Given the description of an element on the screen output the (x, y) to click on. 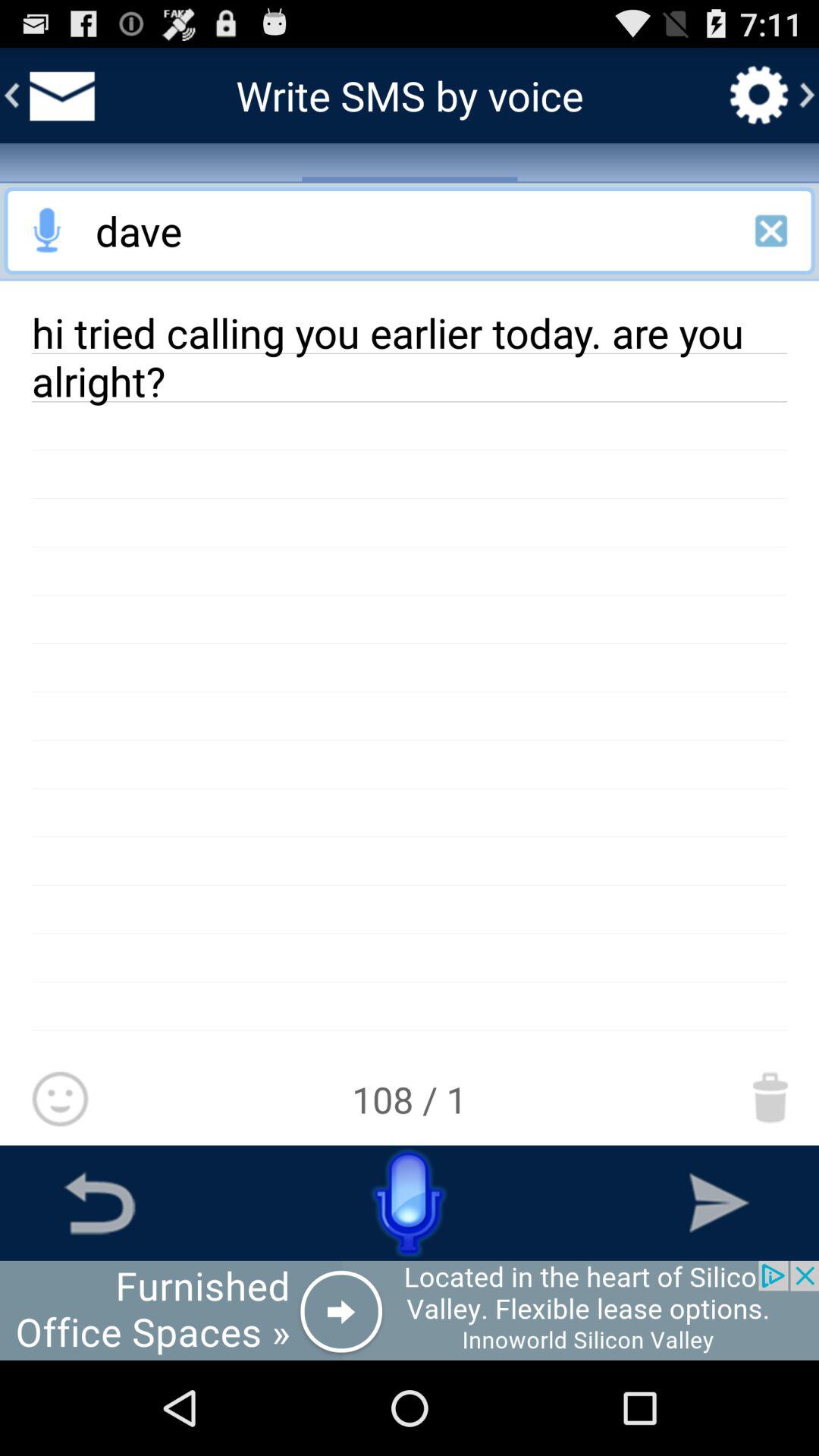
delete message (770, 1097)
